Given the description of an element on the screen output the (x, y) to click on. 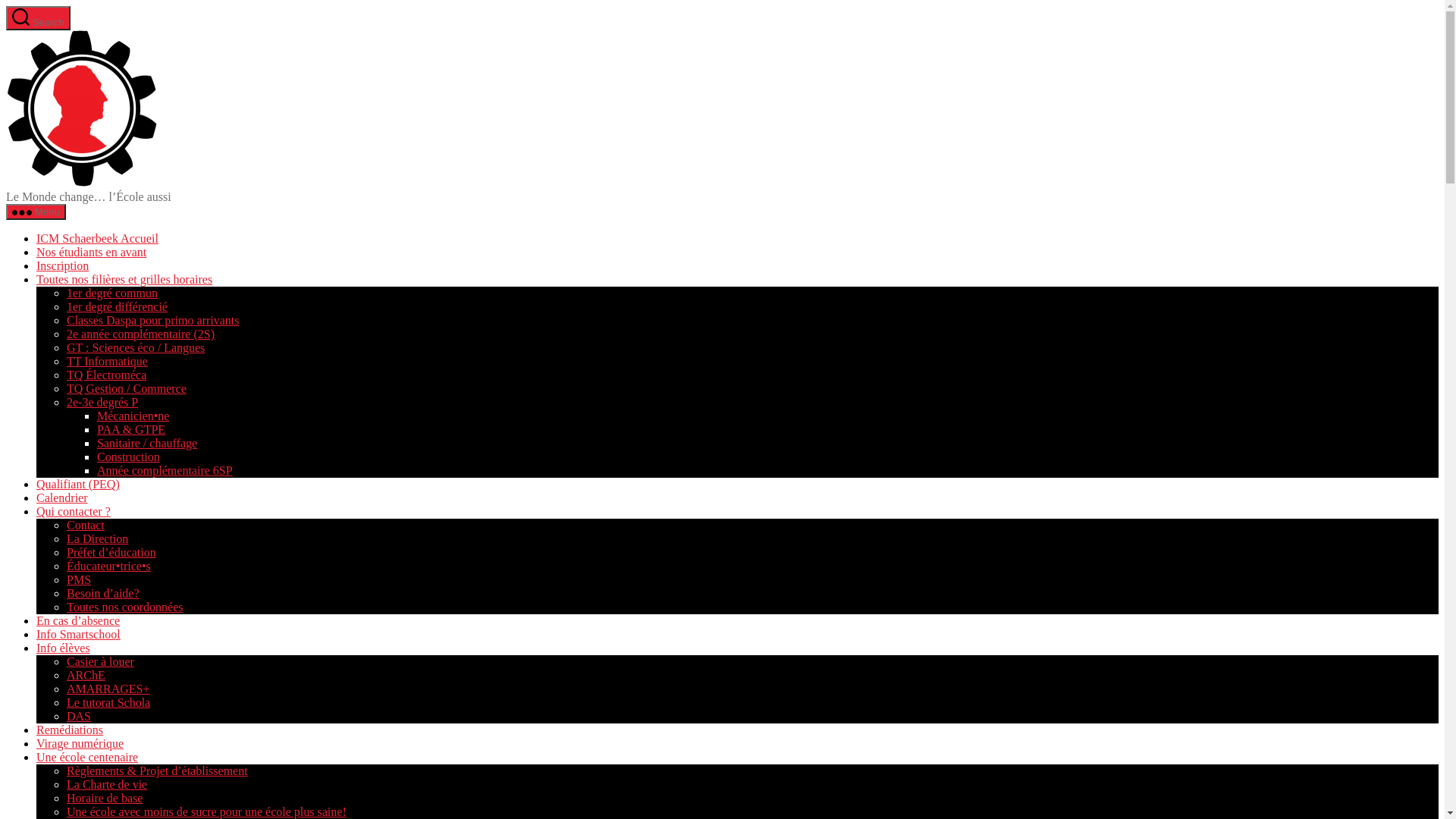
TQ Gestion / Commerce Element type: text (126, 388)
Horaire de base Element type: text (104, 797)
ARChE Element type: text (85, 674)
PMS Element type: text (78, 579)
Calendrier Element type: text (61, 497)
La Charte de vie Element type: text (106, 784)
Search Element type: text (38, 18)
Classes Daspa pour primo arrivants Element type: text (152, 319)
PAA & GTPE Element type: text (131, 429)
La Direction Element type: text (97, 538)
Qui contacter ? Element type: text (73, 511)
Skip to the content Element type: text (5, 5)
Contact Element type: text (85, 524)
DAS Element type: text (78, 715)
Le tutorat Schola Element type: text (108, 702)
TT Informatique Element type: text (106, 360)
AMARRAGES+ Element type: text (107, 688)
Info Smartschool Element type: text (78, 633)
Construction Element type: text (128, 456)
Menu Element type: text (35, 211)
Sanitaire / chauffage Element type: text (147, 442)
Inscription Element type: text (62, 265)
ICM Schaerbeek Accueil Element type: text (97, 238)
Qualifiant (PEQ) Element type: text (77, 483)
